Given the description of an element on the screen output the (x, y) to click on. 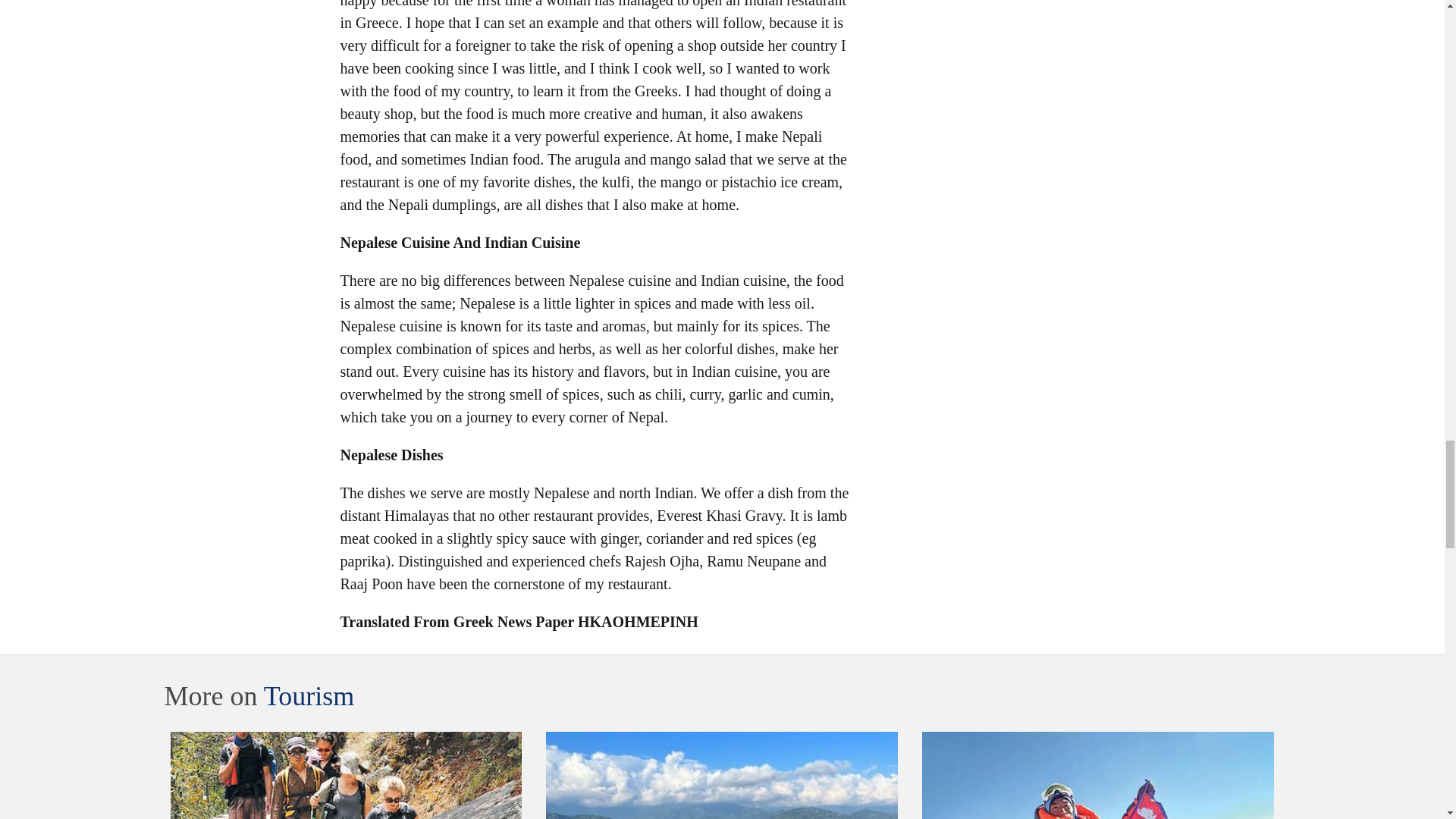
Tourism (308, 695)
